Given the description of an element on the screen output the (x, y) to click on. 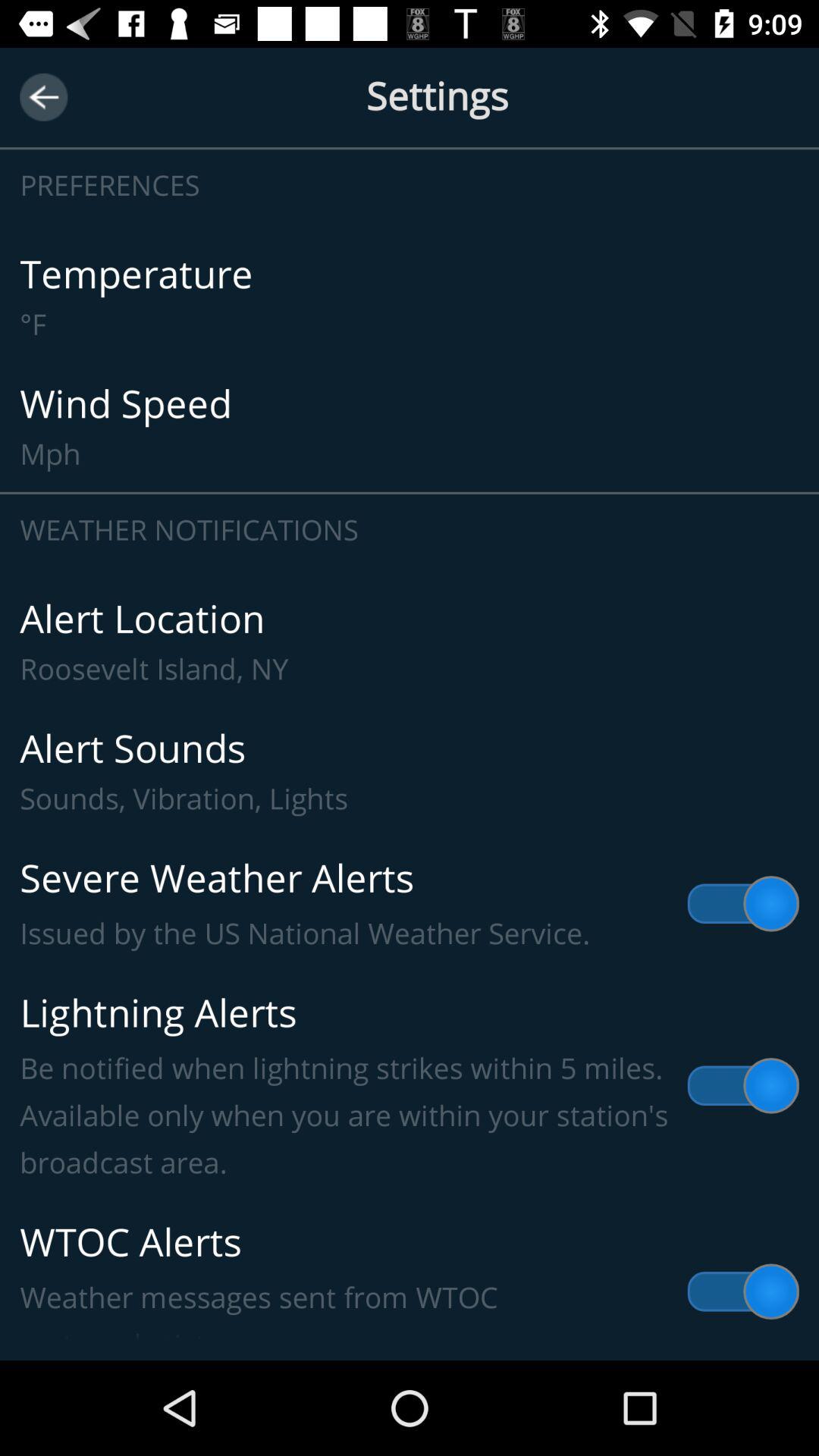
choose wind speed
mph item (409, 426)
